Given the description of an element on the screen output the (x, y) to click on. 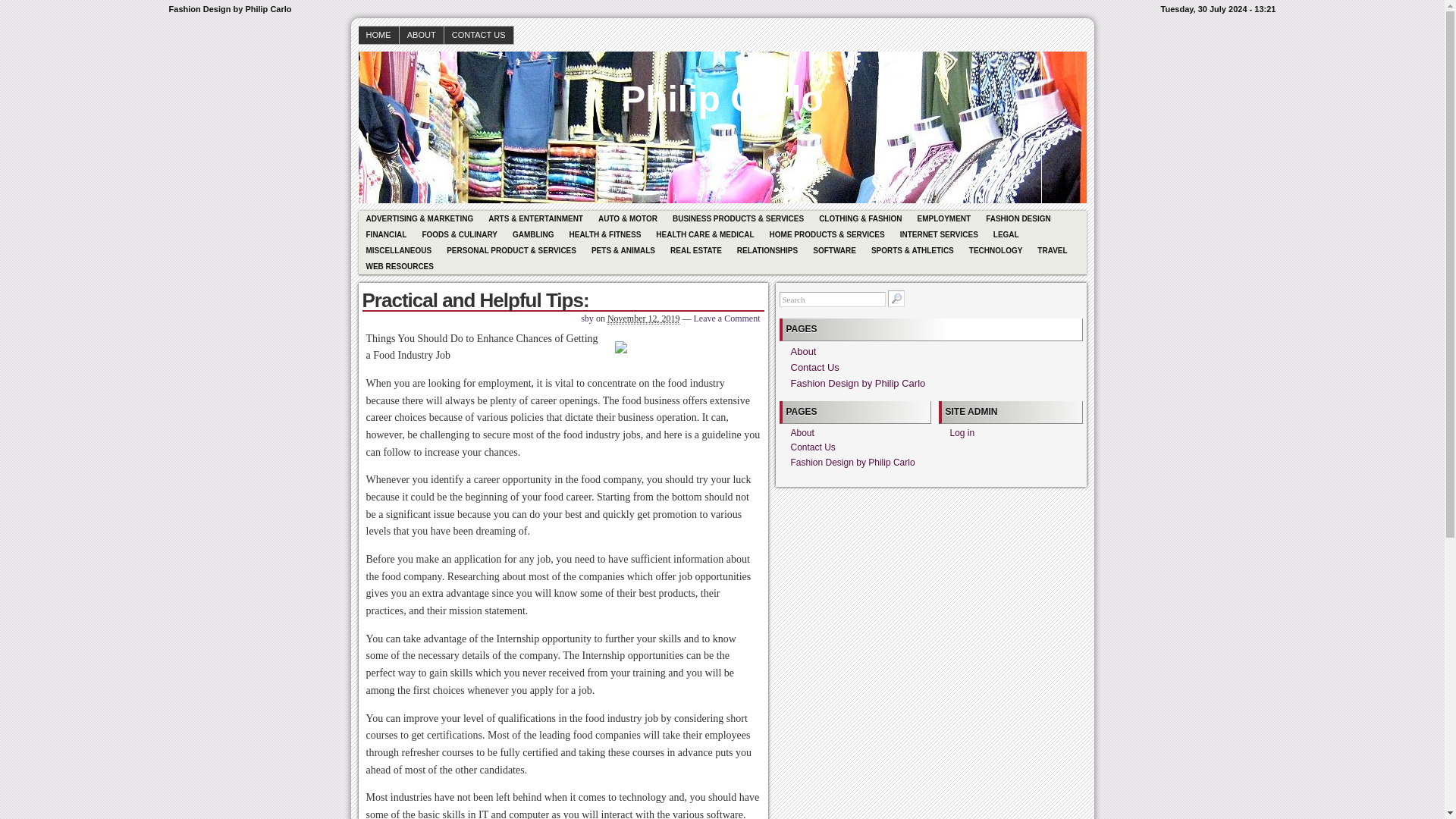
TRAVEL (1051, 250)
November 12, 2019 - 9:31 pm (643, 318)
ABOUT (421, 34)
WEB RESOURCES (399, 266)
REAL ESTATE (695, 250)
HOME (378, 34)
FASHION DESIGN (1018, 218)
Contact Us (814, 367)
Leave a Comment (727, 317)
TECHNOLOGY (995, 250)
LEGAL (1005, 234)
GAMBLING (532, 234)
Fashion Design by Philip Carlo (722, 88)
INTERNET SERVICES (938, 234)
Search (831, 299)
